Given the description of an element on the screen output the (x, y) to click on. 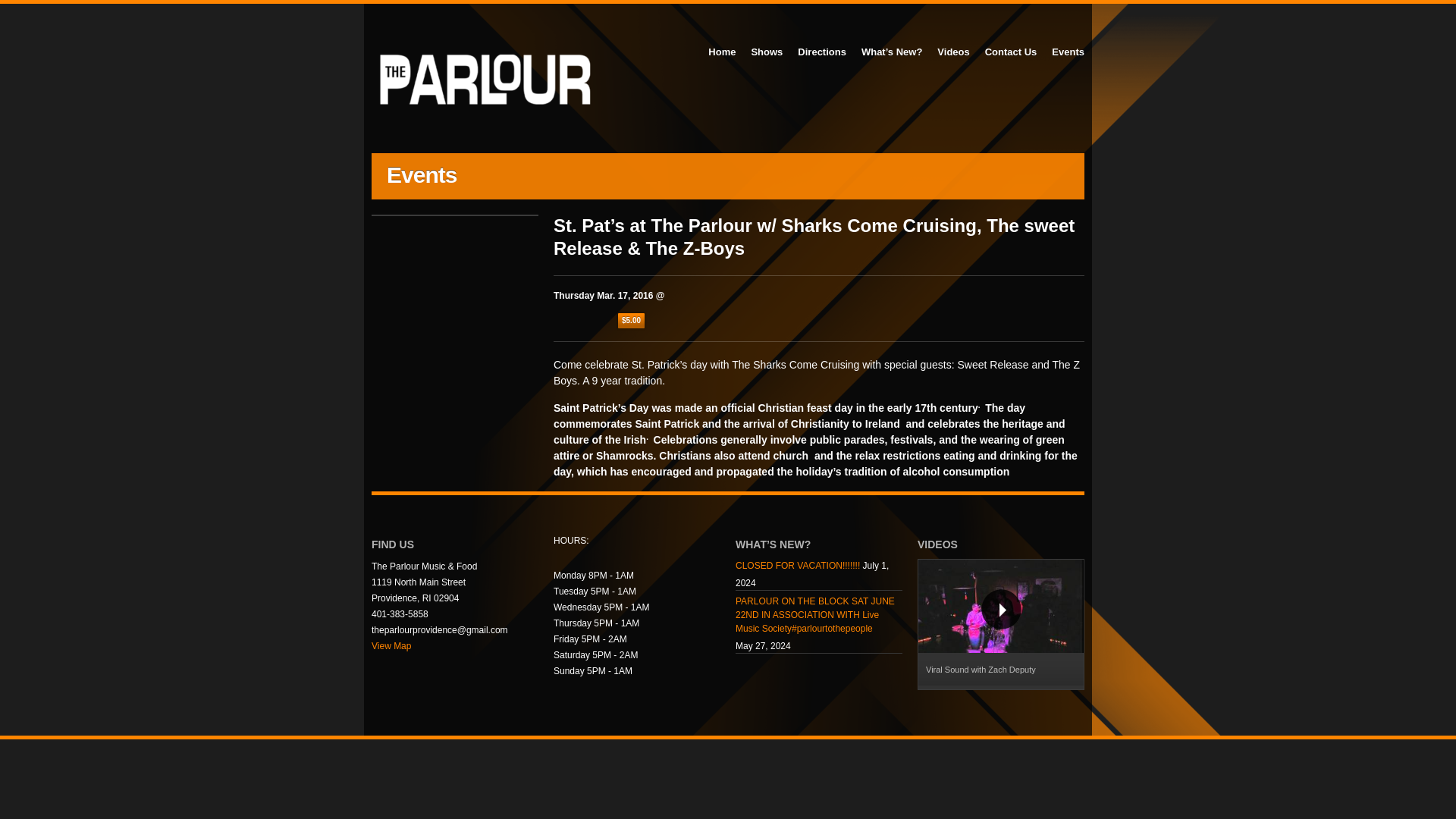
Events (1067, 51)
Videos (953, 51)
View Map (390, 645)
Directions (821, 51)
CLOSED FOR VACATION!!!!!!! (797, 567)
Contact Us (1010, 51)
Home (721, 51)
Shows (766, 51)
